Given the description of an element on the screen output the (x, y) to click on. 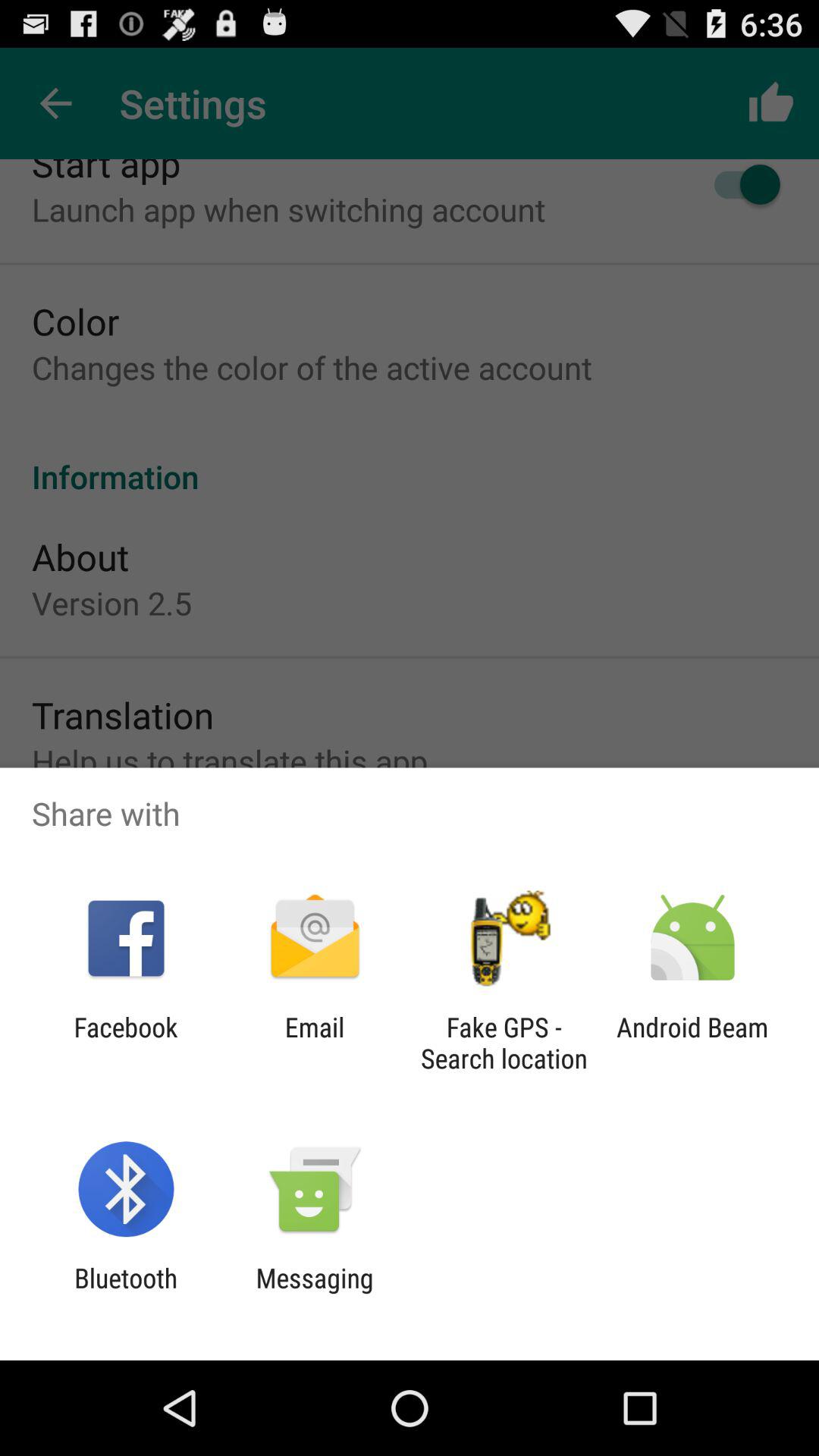
scroll until email item (314, 1042)
